Given the description of an element on the screen output the (x, y) to click on. 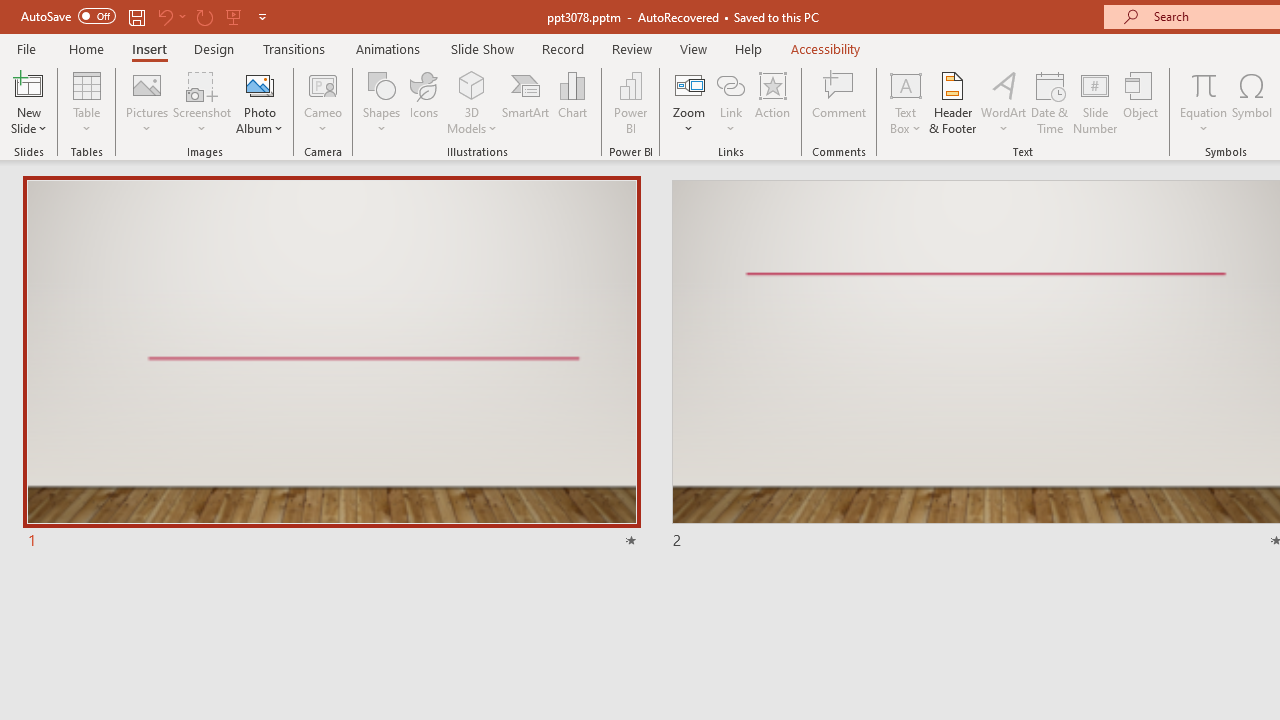
Chart... (572, 102)
Slide Number (1095, 102)
Icons (424, 102)
Table (86, 102)
Date & Time... (1050, 102)
Action (772, 102)
